Given the description of an element on the screen output the (x, y) to click on. 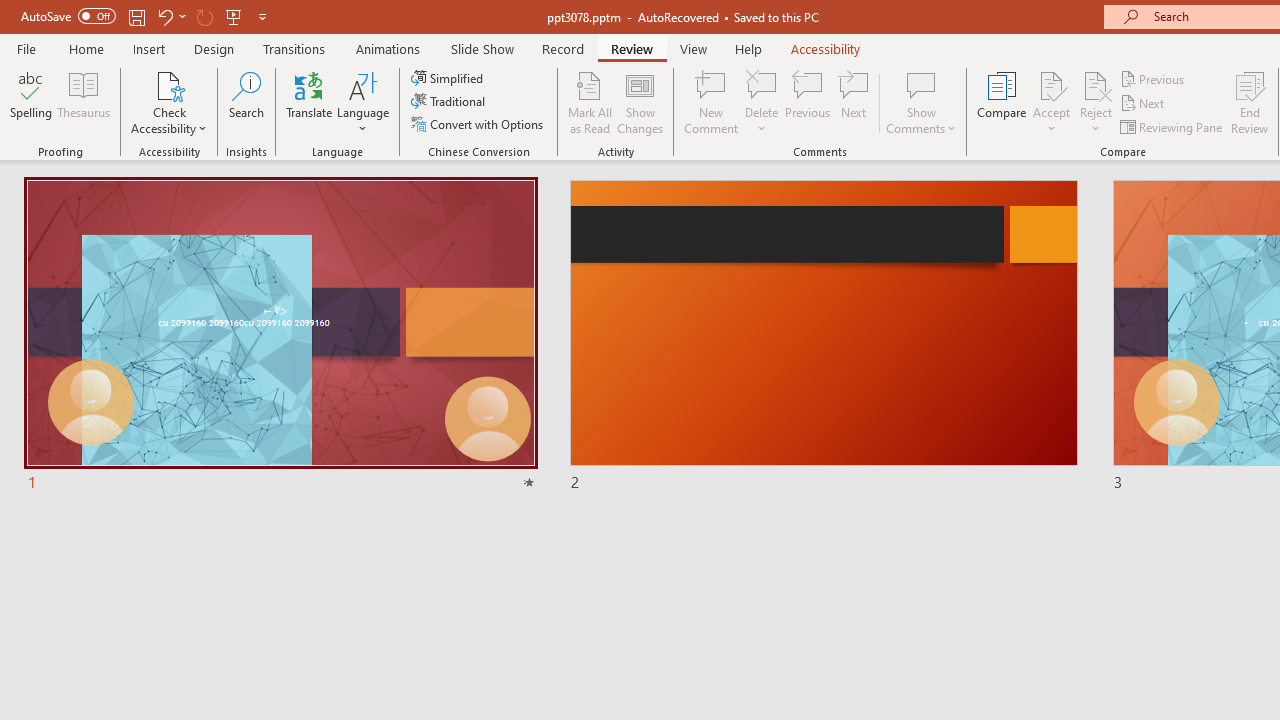
Compare (1002, 102)
